Given the description of an element on the screen output the (x, y) to click on. 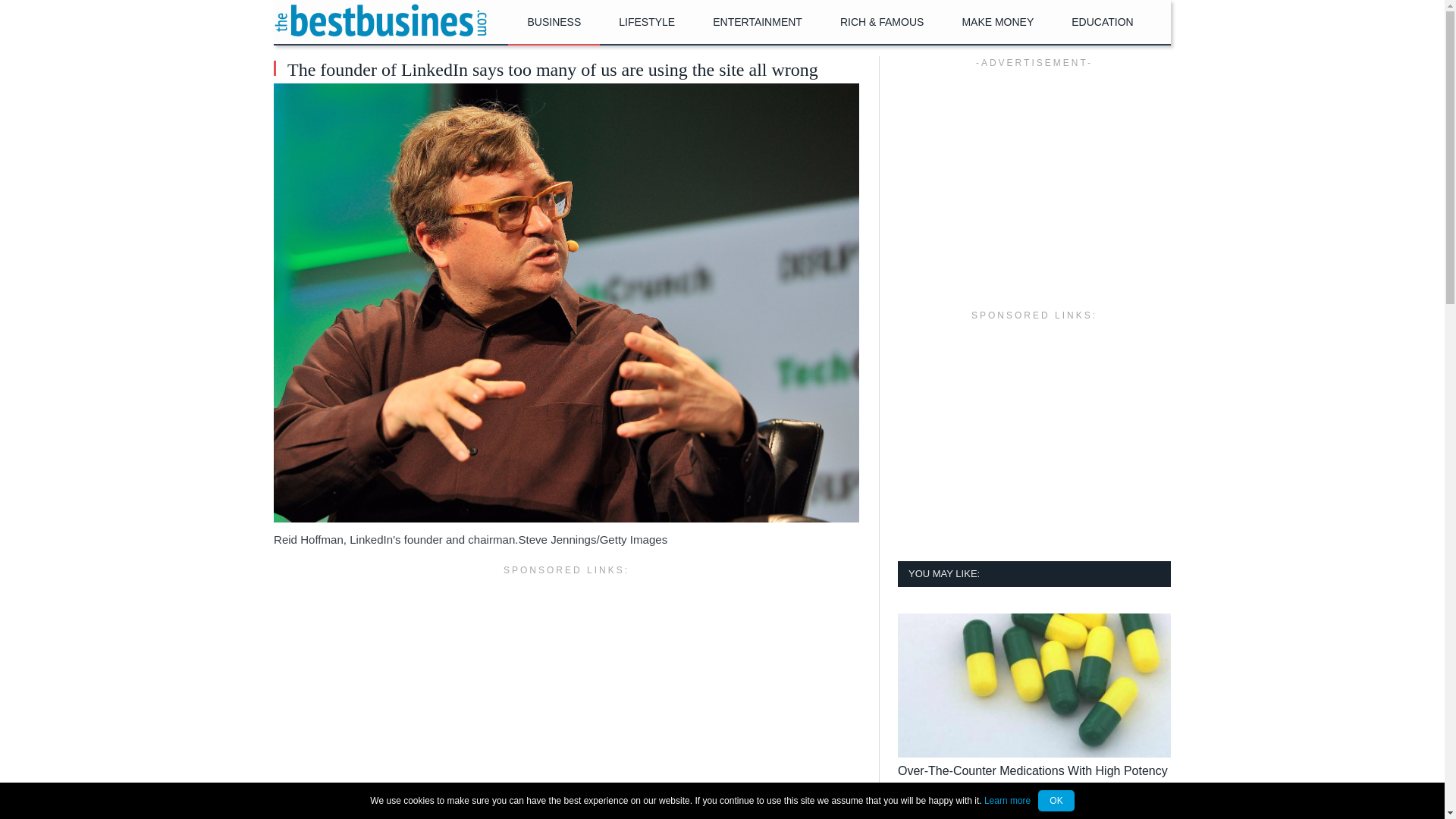
ENTERTAINMENT (757, 22)
EDUCATION (1101, 22)
LIFESTYLE (646, 22)
OK (1056, 800)
BUSINESS (553, 22)
The Best Business (381, 20)
MAKE MONEY (997, 22)
Learn more (1007, 800)
